Given the description of an element on the screen output the (x, y) to click on. 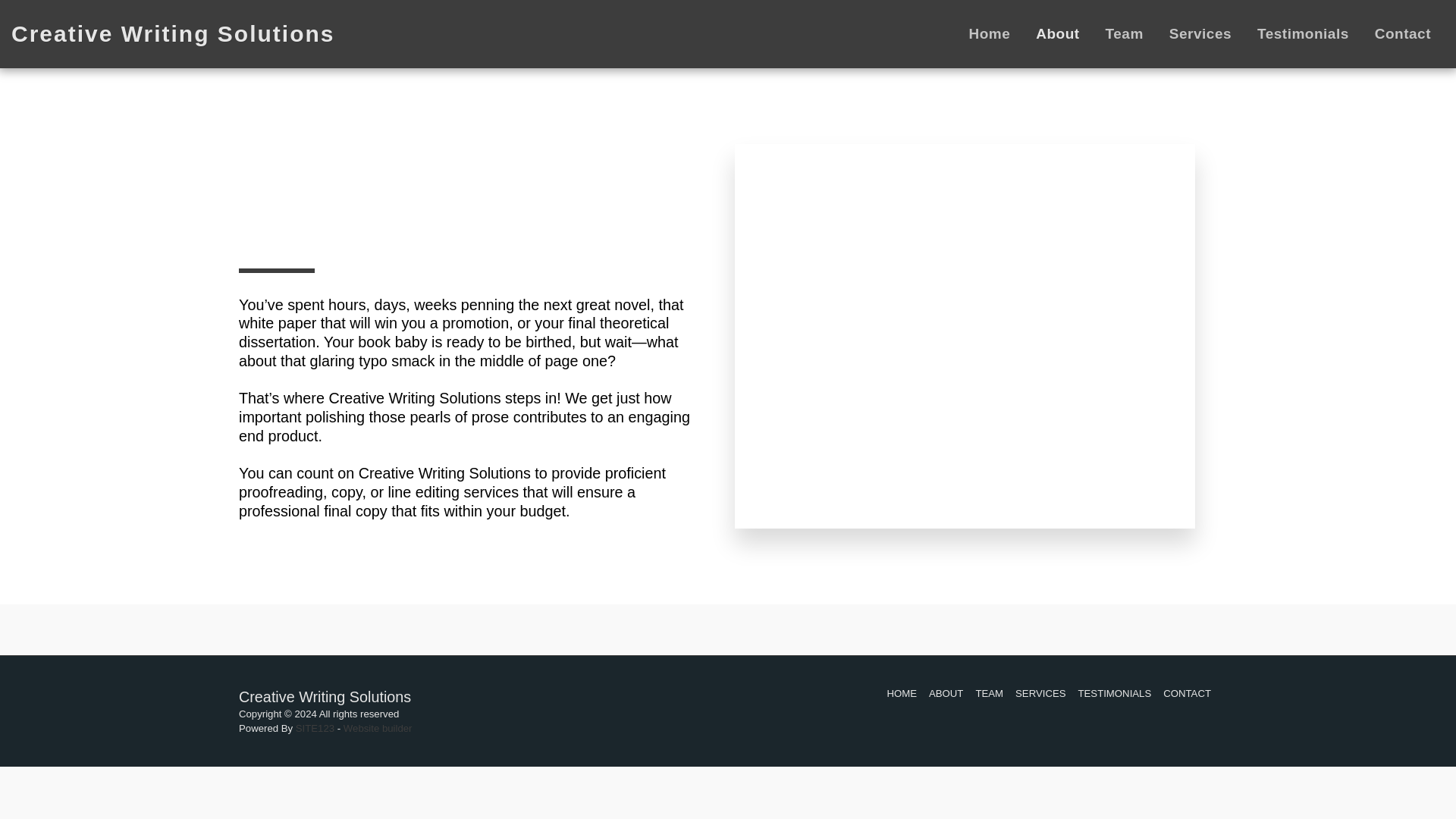
TESTIMONIALS (1114, 693)
Services (1200, 33)
About (1057, 33)
ABOUT (945, 693)
CONTACT (1187, 693)
HOME (901, 693)
Team (1124, 33)
Website builder (377, 727)
Contact (1402, 33)
SERVICES (1039, 693)
TEAM (989, 693)
SITE123 (314, 727)
Home (989, 33)
Creative Writing Solutions (172, 33)
Testimonials (1302, 33)
